Given the description of an element on the screen output the (x, y) to click on. 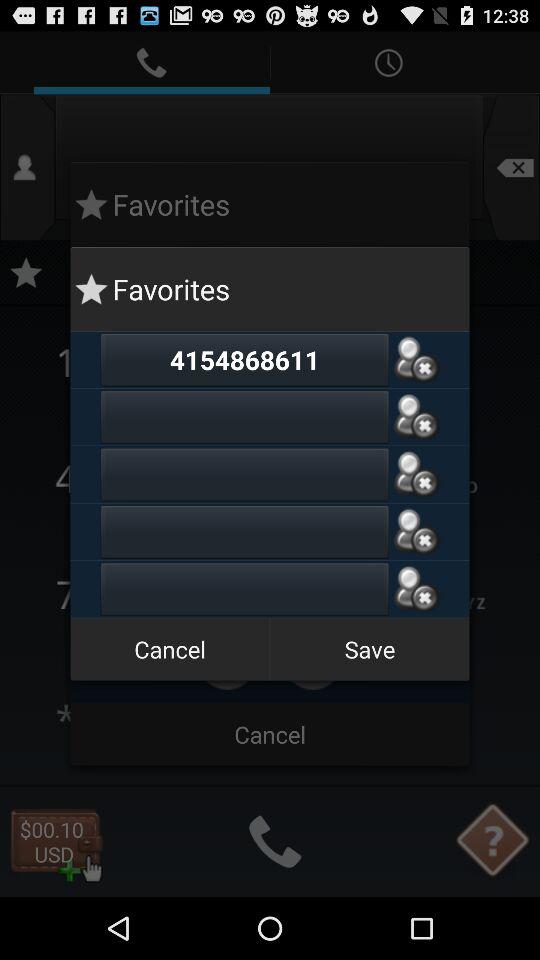
remove favorite (416, 531)
